Given the description of an element on the screen output the (x, y) to click on. 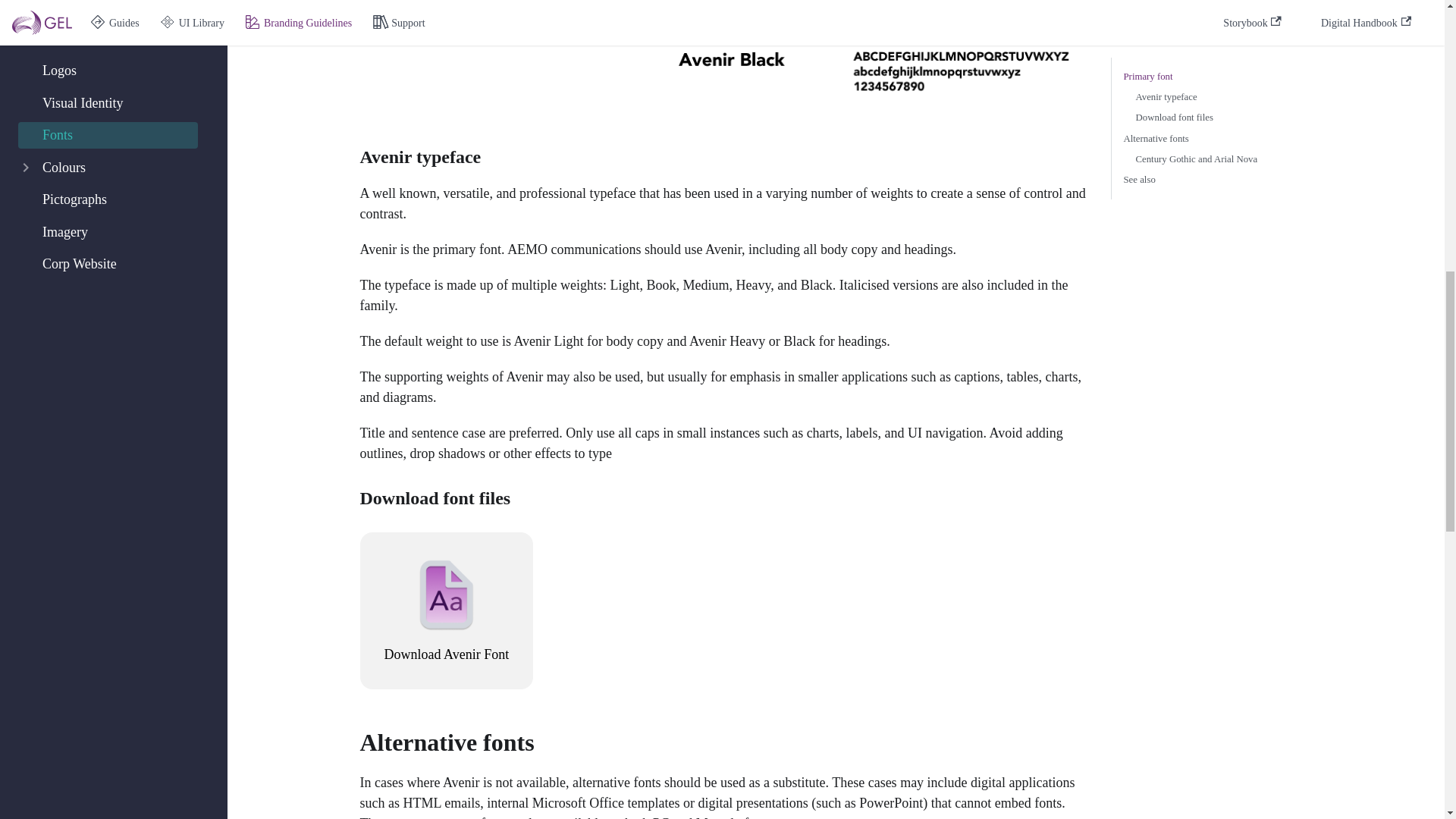
Download Avenir Font (446, 610)
